Given the description of an element on the screen output the (x, y) to click on. 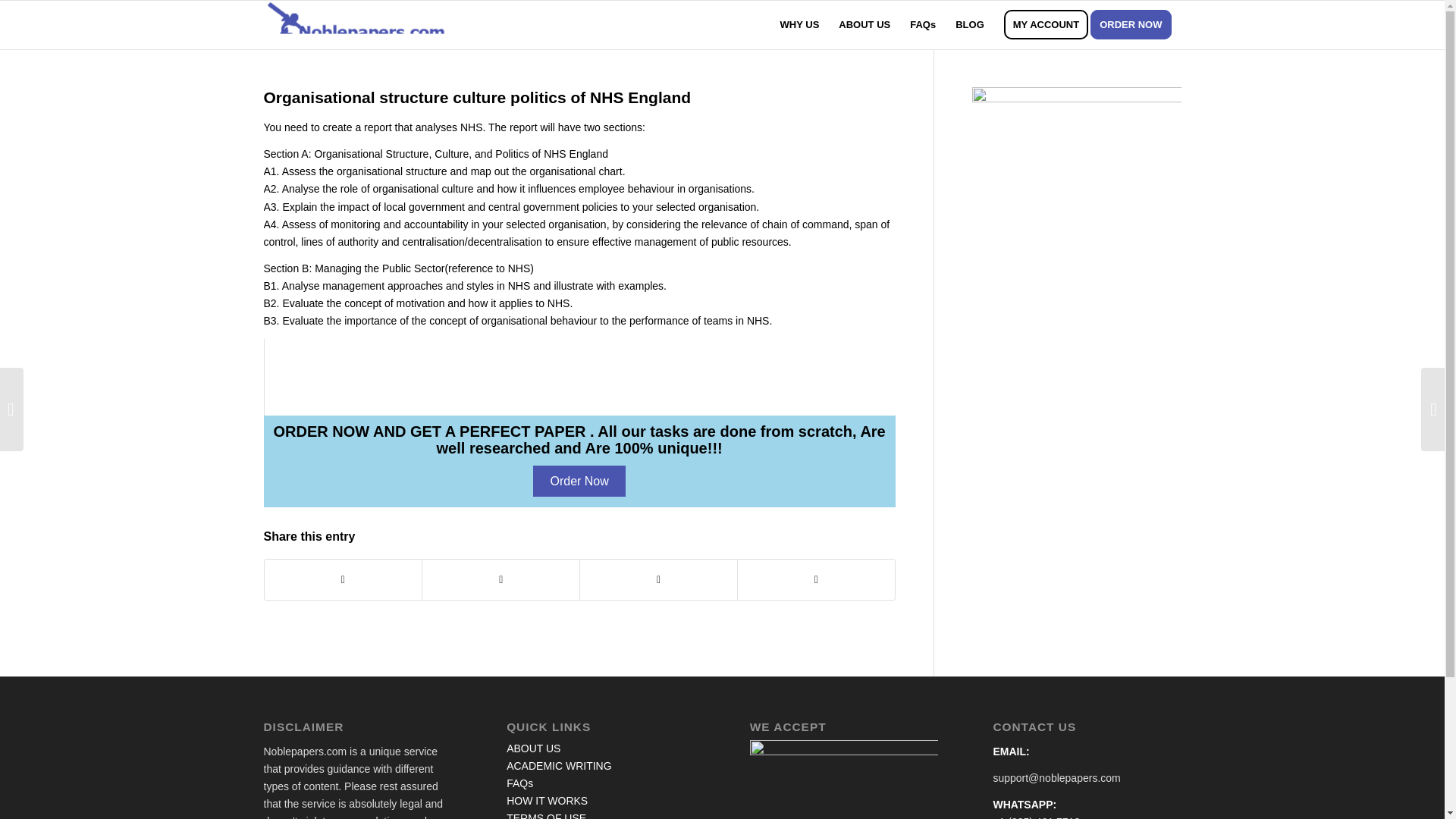
Order Now (578, 481)
BLOG (969, 24)
Organisational structure culture politics of NHS England (477, 97)
ACADEMIC WRITING (558, 766)
WHY US (799, 24)
ABOUT US (863, 24)
FAQs (519, 783)
ABOUT US (533, 748)
HOW IT WORKS (547, 800)
